Given the description of an element on the screen output the (x, y) to click on. 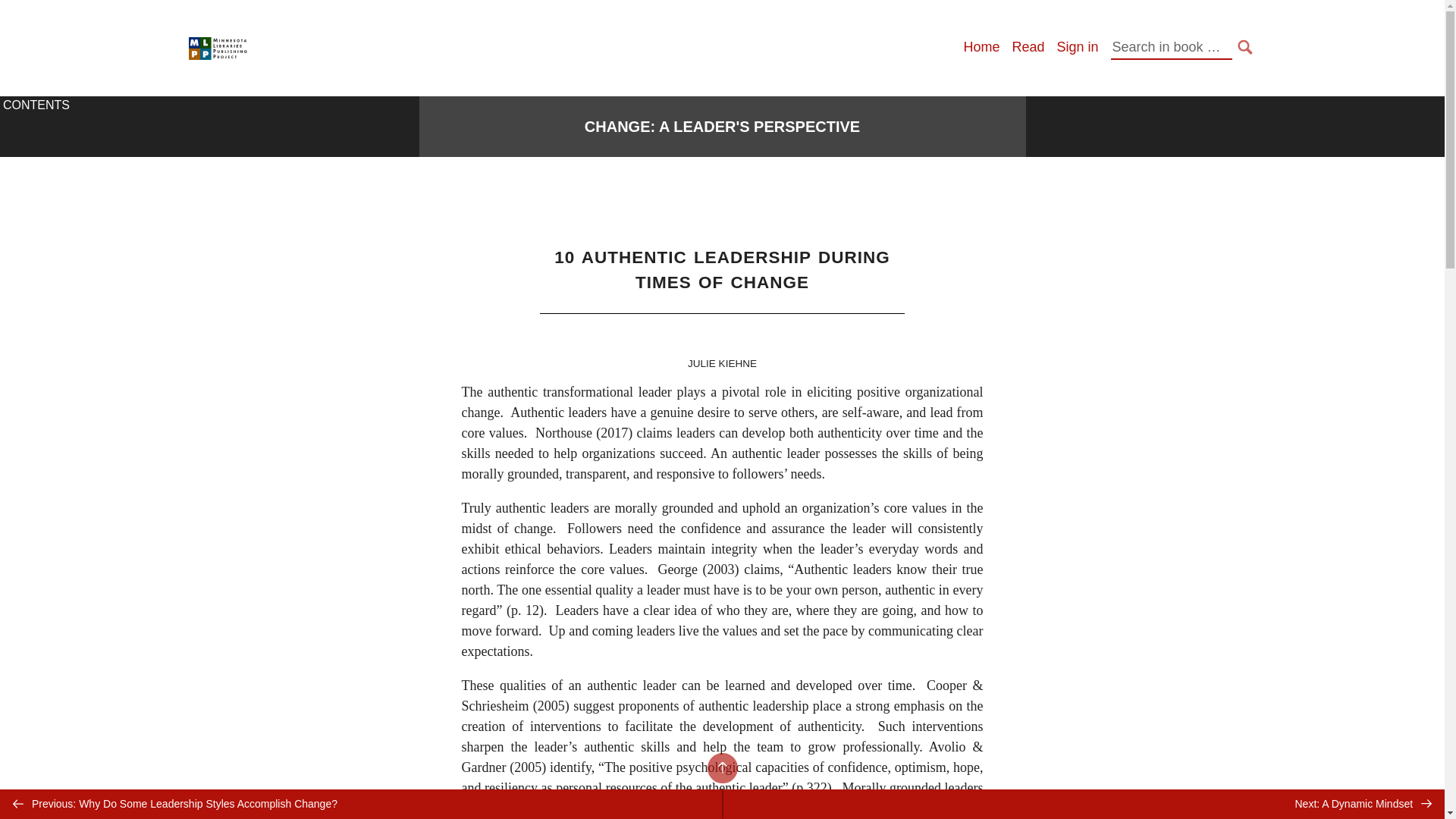
BACK TO TOP (721, 767)
Read (1027, 46)
Previous: Why Do Some Leadership Styles Accomplish Change? (361, 804)
Home (980, 46)
CHANGE: A LEADER'S PERSPECTIVE (722, 126)
Sign in (1077, 46)
Previous: Why Do Some Leadership Styles Accomplish Change? (361, 804)
